Given the description of an element on the screen output the (x, y) to click on. 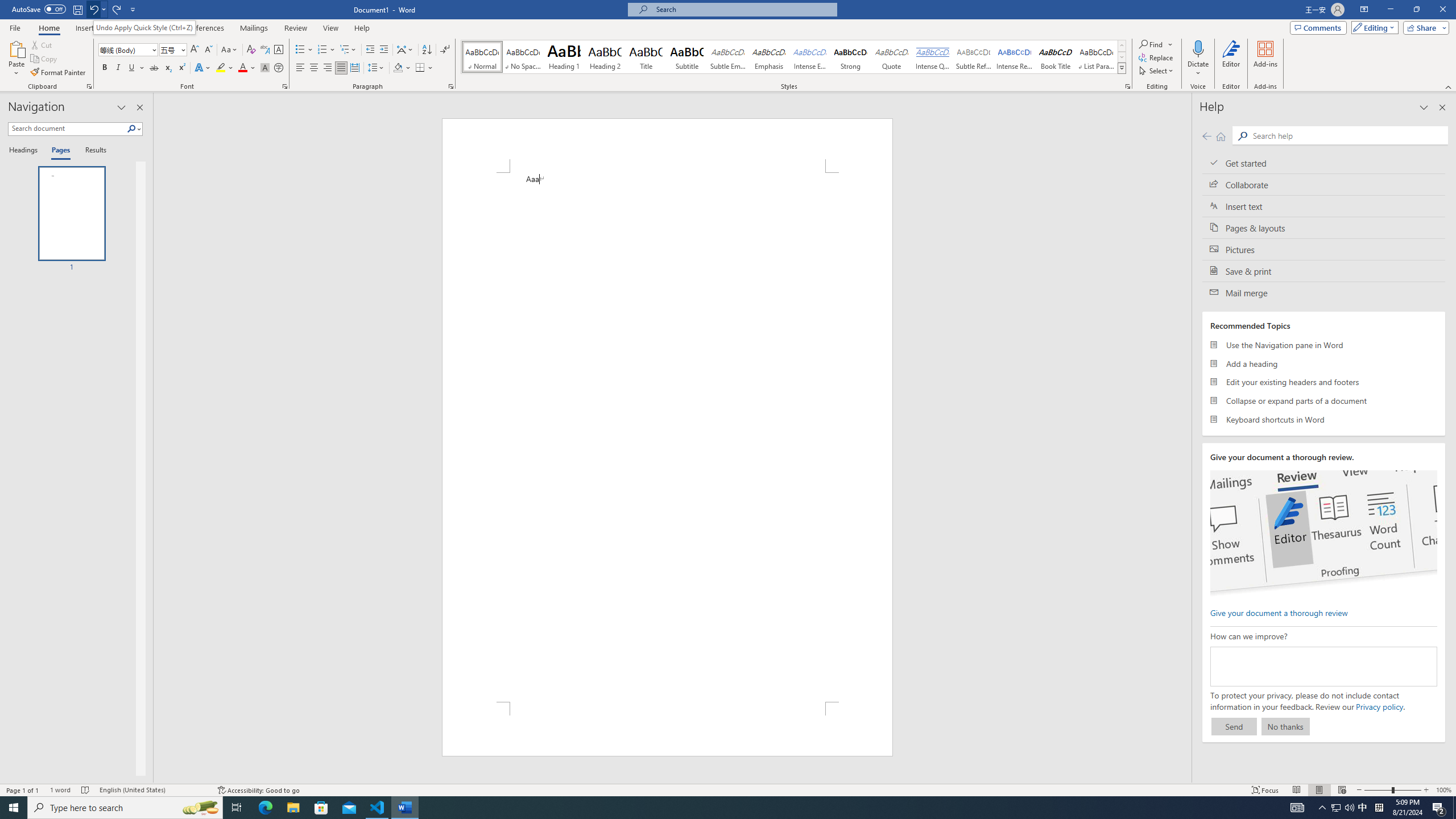
Intense Emphasis (809, 56)
Page Number Page 1 of 1 (22, 790)
Copy (45, 58)
Undo Apply Quick Style (96, 9)
Styles... (1127, 85)
Enclose Characters... (278, 67)
editor ui screenshot (1323, 533)
